Given the description of an element on the screen output the (x, y) to click on. 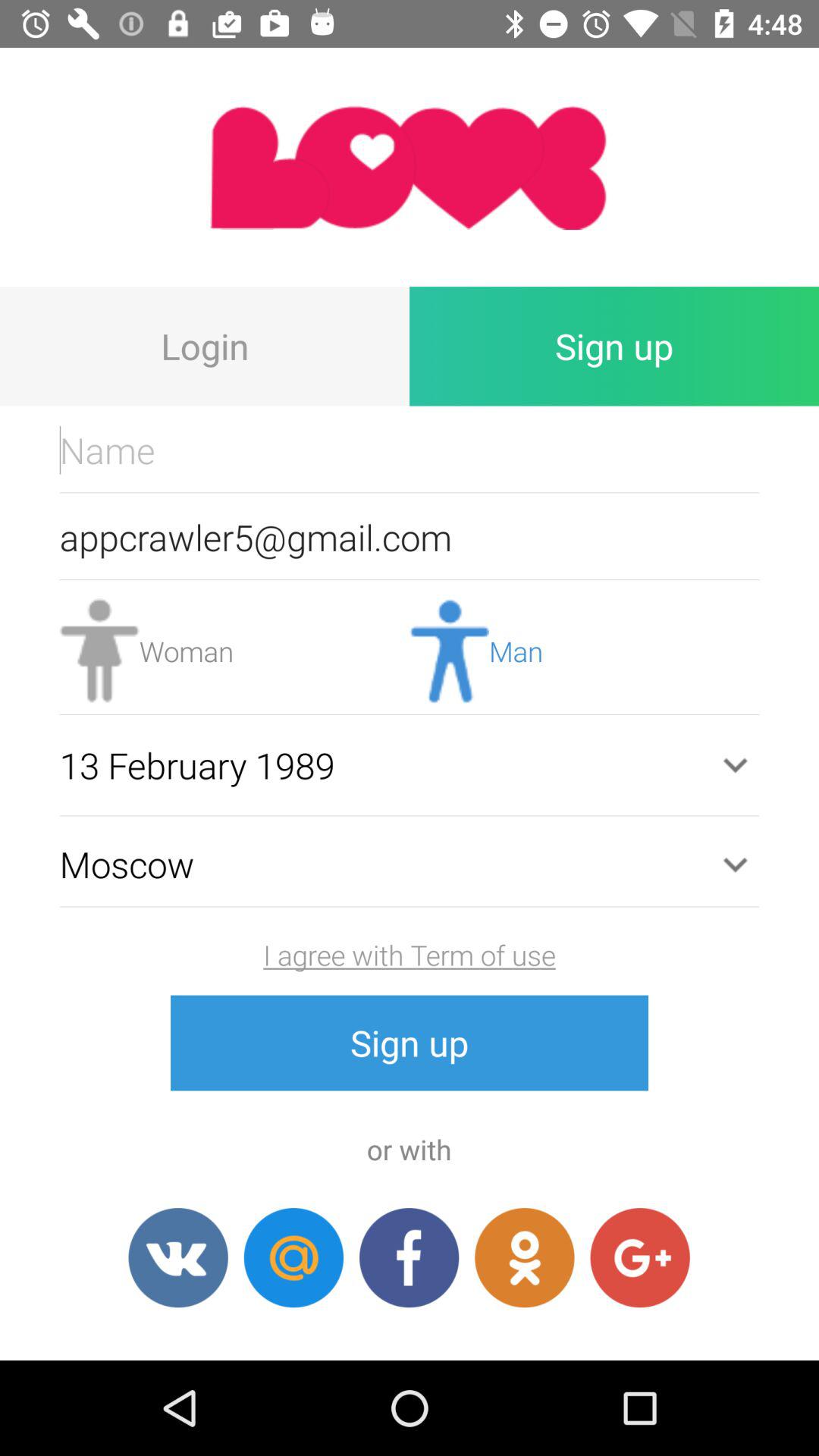
sign in with google plus (639, 1257)
